Given the description of an element on the screen output the (x, y) to click on. 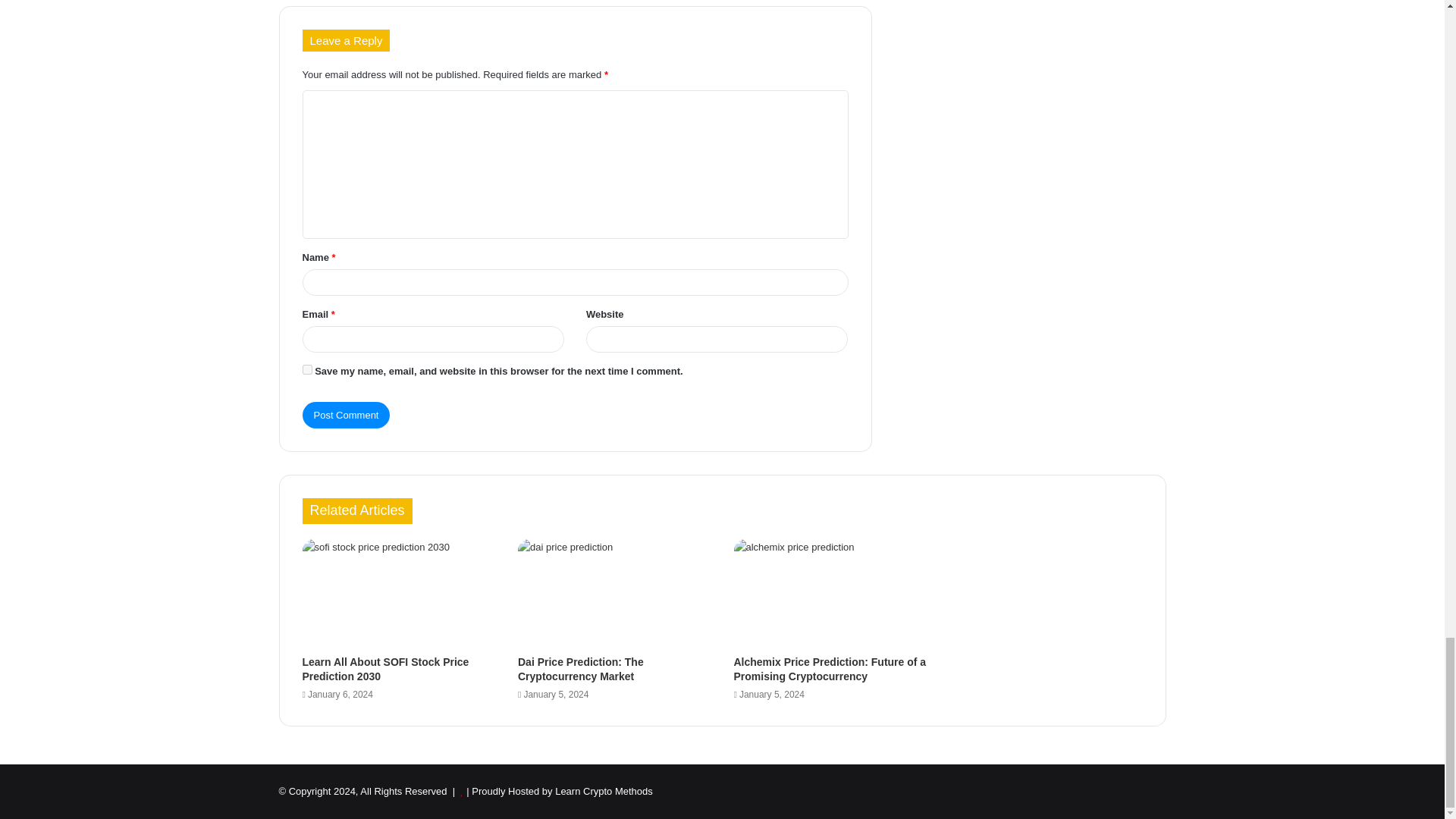
yes (306, 369)
Post Comment (345, 415)
